Given the description of an element on the screen output the (x, y) to click on. 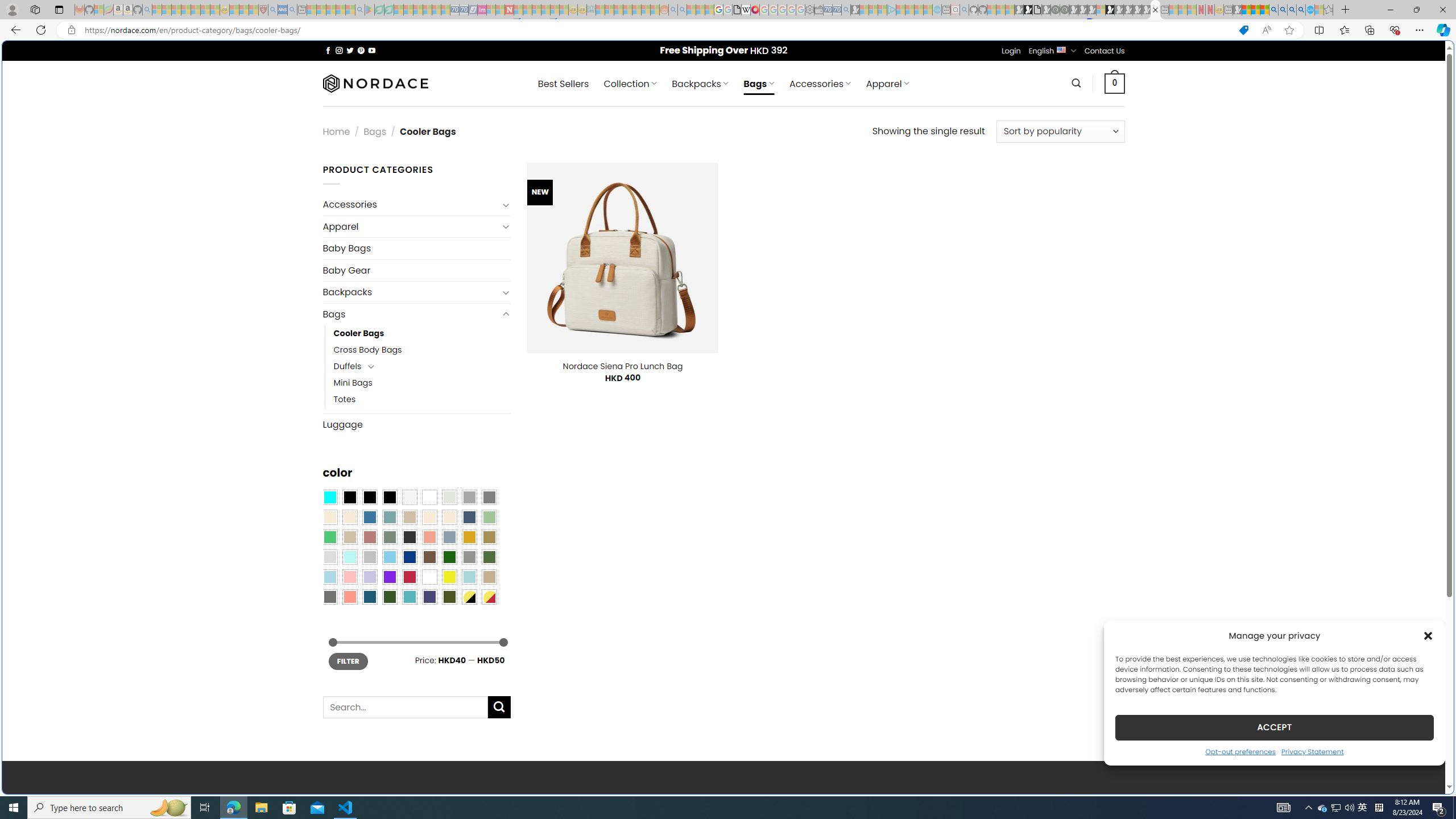
Favorites - Sleeping (1328, 9)
All Black (349, 497)
Nordace Siena Pro Lunch Bag (622, 365)
Accessories (410, 204)
Luggage (416, 424)
